Given the description of an element on the screen output the (x, y) to click on. 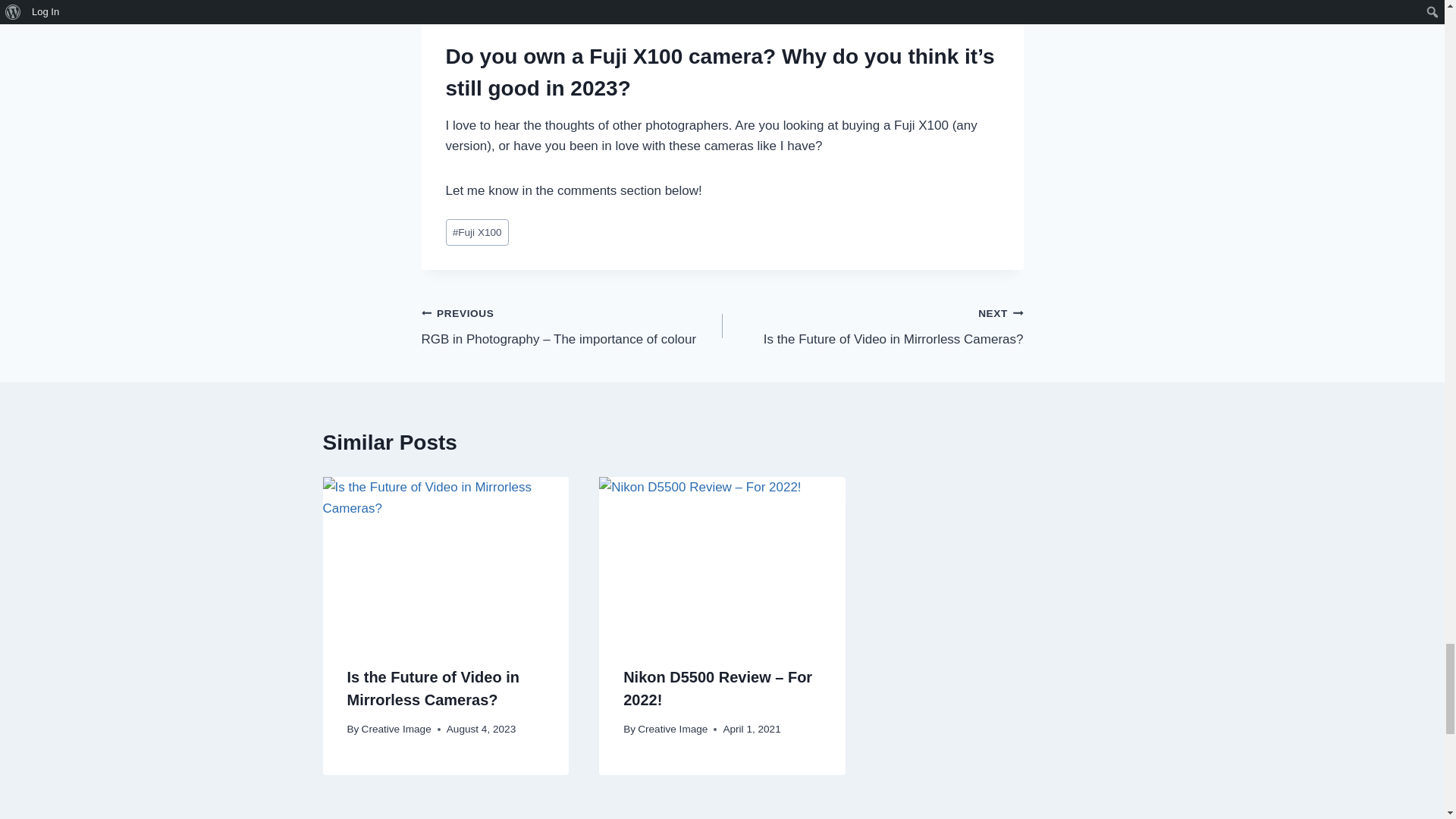
Is the Future of Video in Mirrorless Cameras? (433, 688)
Fuji X100 (872, 325)
Creative Image (476, 232)
Creative Image (395, 728)
